Given the description of an element on the screen output the (x, y) to click on. 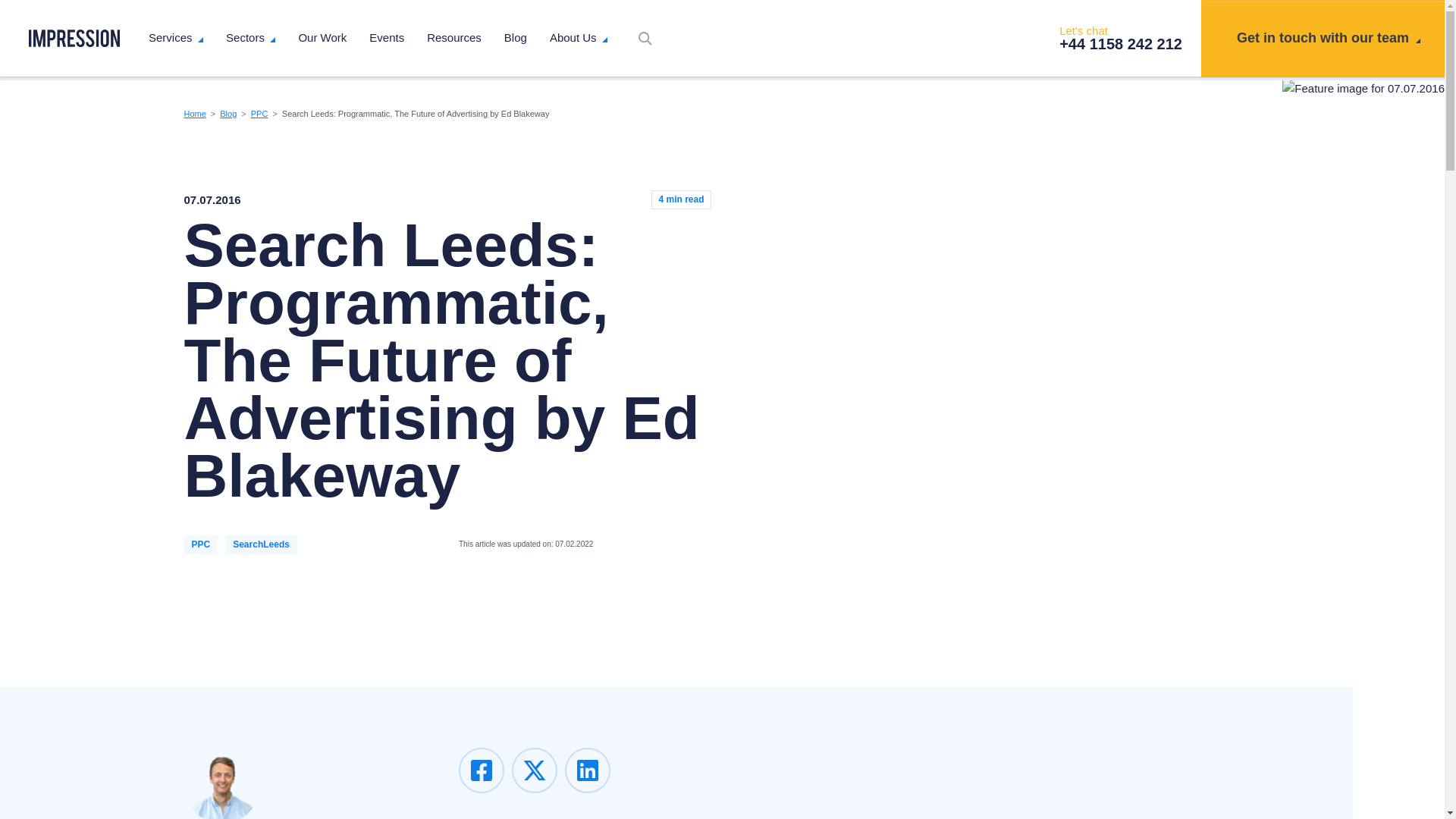
Go to the homepage (74, 38)
Sectors (250, 38)
Services (175, 38)
